Given the description of an element on the screen output the (x, y) to click on. 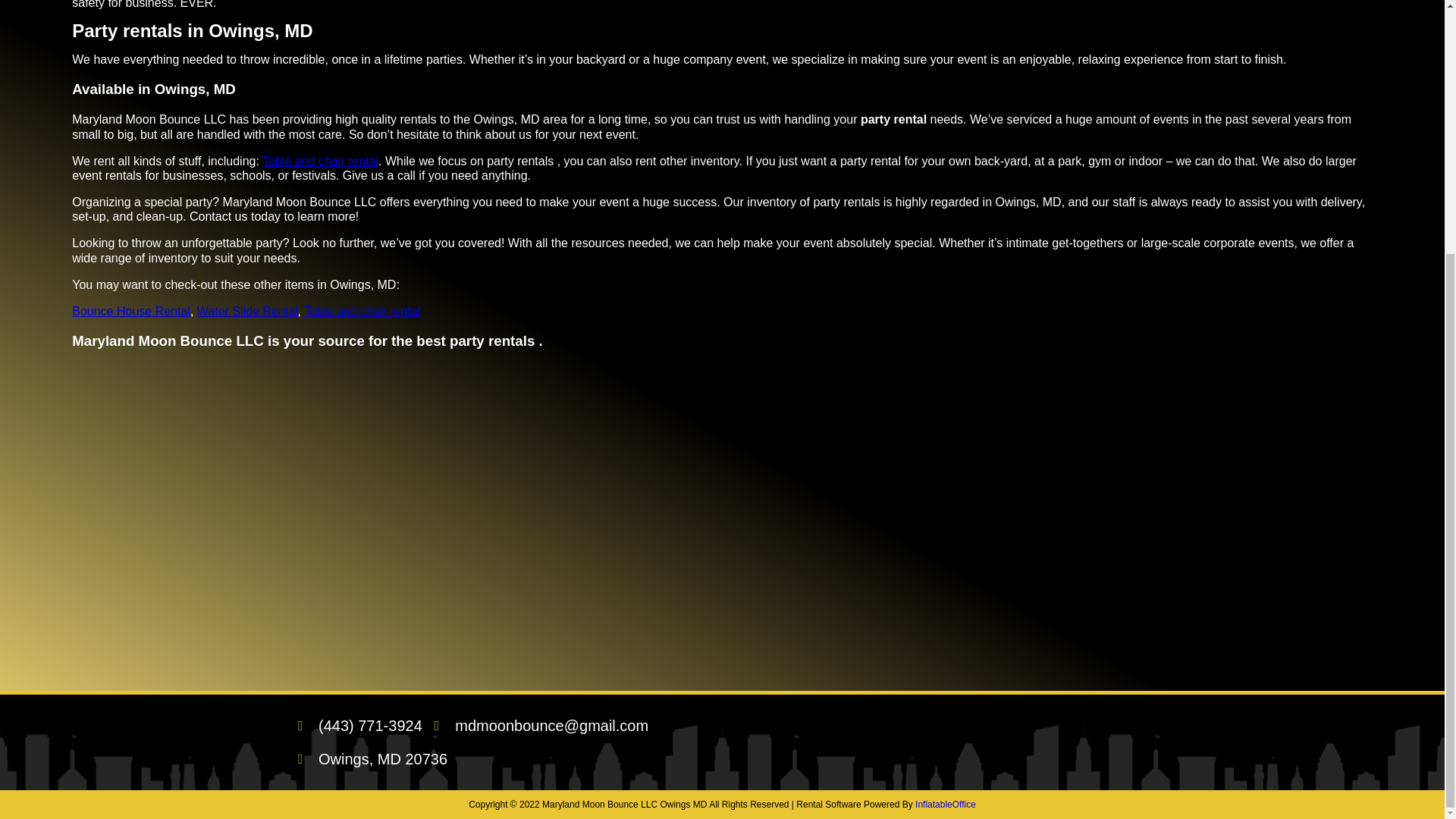
Bounce House Rental (130, 310)
Table and chair rental (362, 310)
Water Slide Rental (247, 310)
InflatableOffice (945, 804)
Table and chair rental (320, 160)
